Given the description of an element on the screen output the (x, y) to click on. 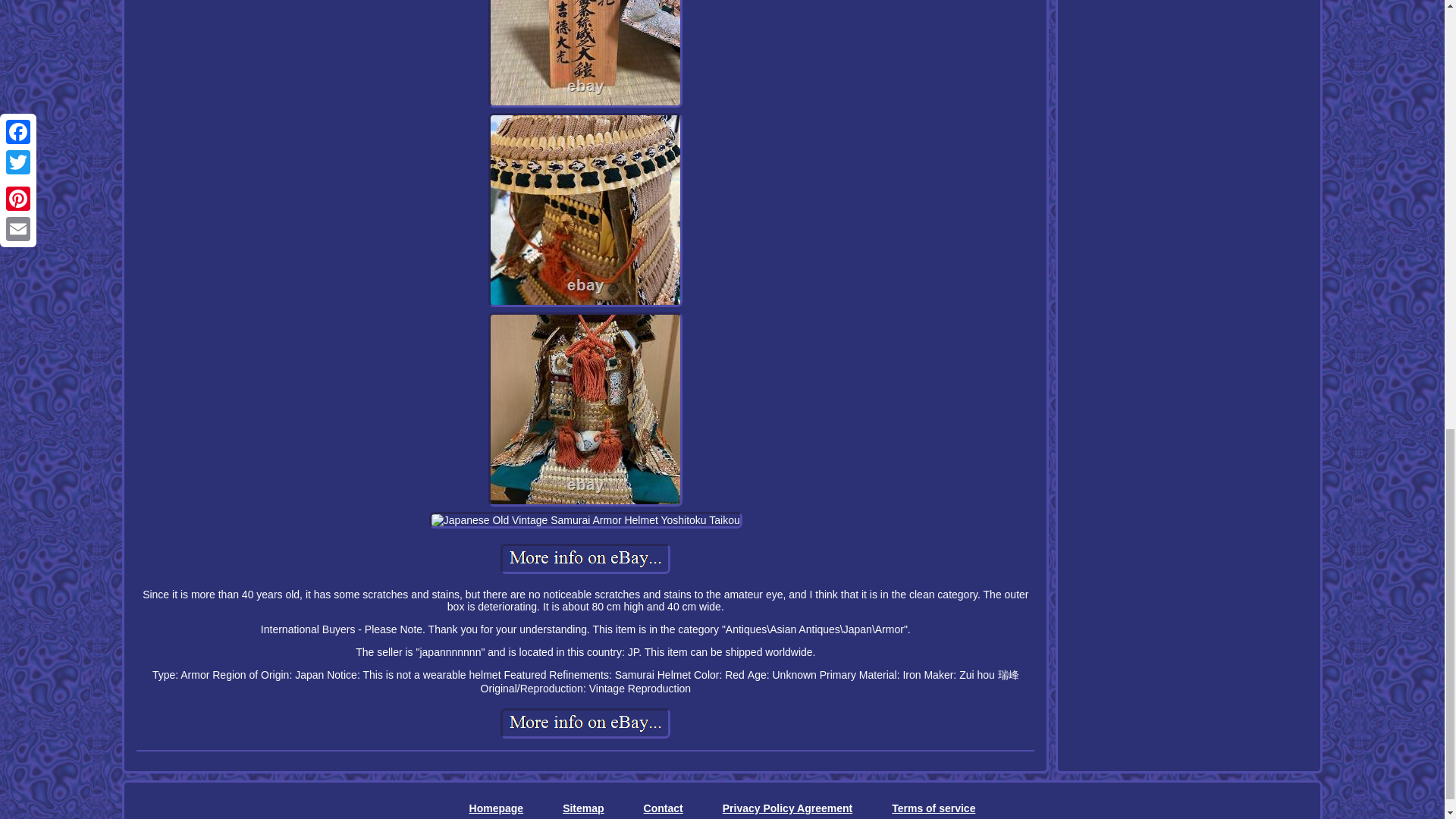
Japanese Old Vintage Samurai Armor Helmet Yoshitoku Taikou (584, 210)
Japanese Old Vintage Samurai Armor Helmet Yoshitoku Taikou (584, 53)
Japanese Old Vintage Samurai Armor Helmet Yoshitoku Taikou (585, 519)
Japanese Old Vintage Samurai Armor Helmet Yoshitoku Taikou (584, 409)
Japanese Old Vintage Samurai Armor Helmet Yoshitoku Taikou (584, 723)
Japanese Old Vintage Samurai Armor Helmet Yoshitoku Taikou (584, 558)
